Given the description of an element on the screen output the (x, y) to click on. 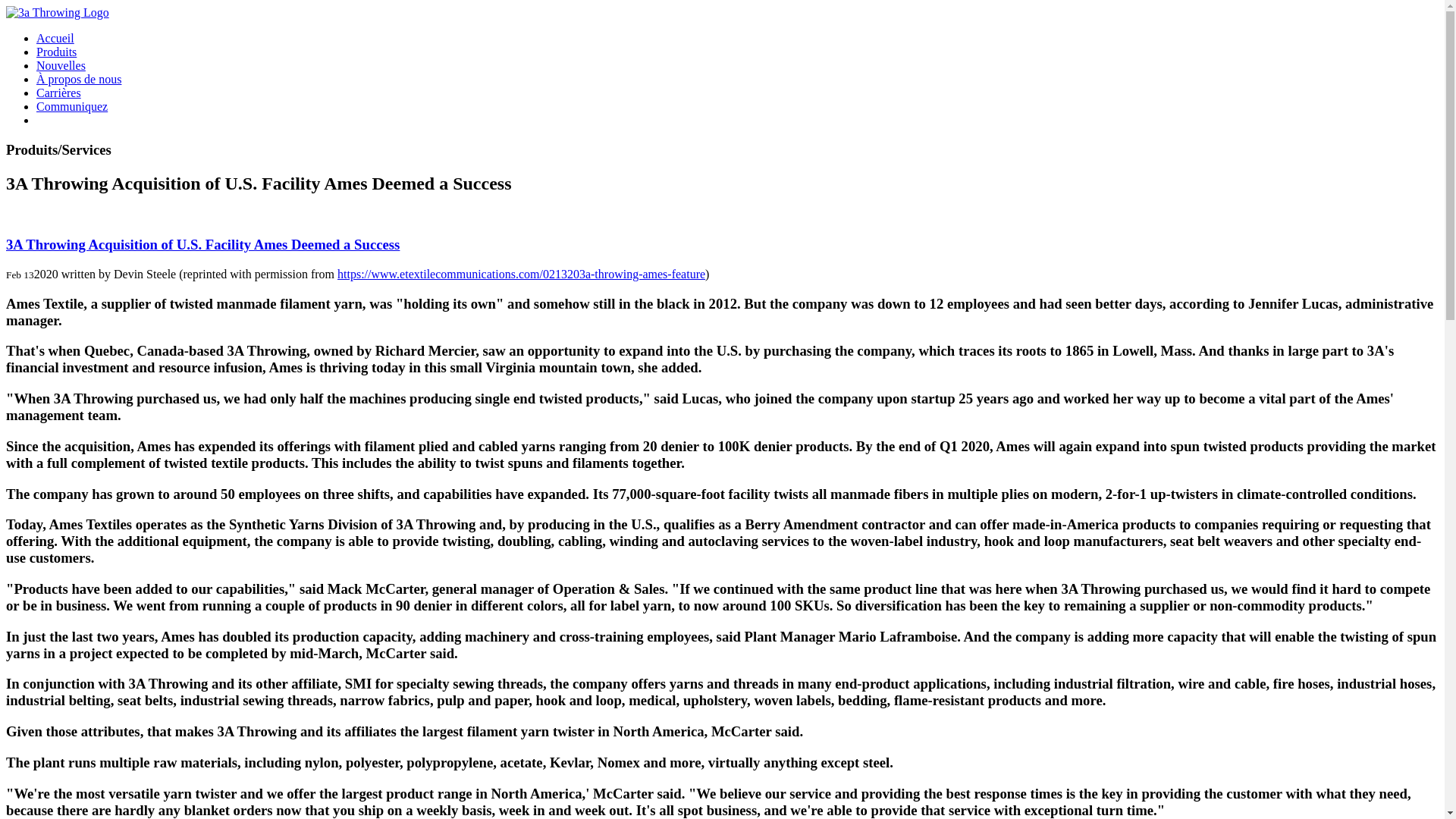
Produits Element type: text (56, 51)
Nouvelles Element type: text (60, 65)
Accueil Element type: text (55, 37)
Communiquez Element type: text (71, 106)
